Given the description of an element on the screen output the (x, y) to click on. 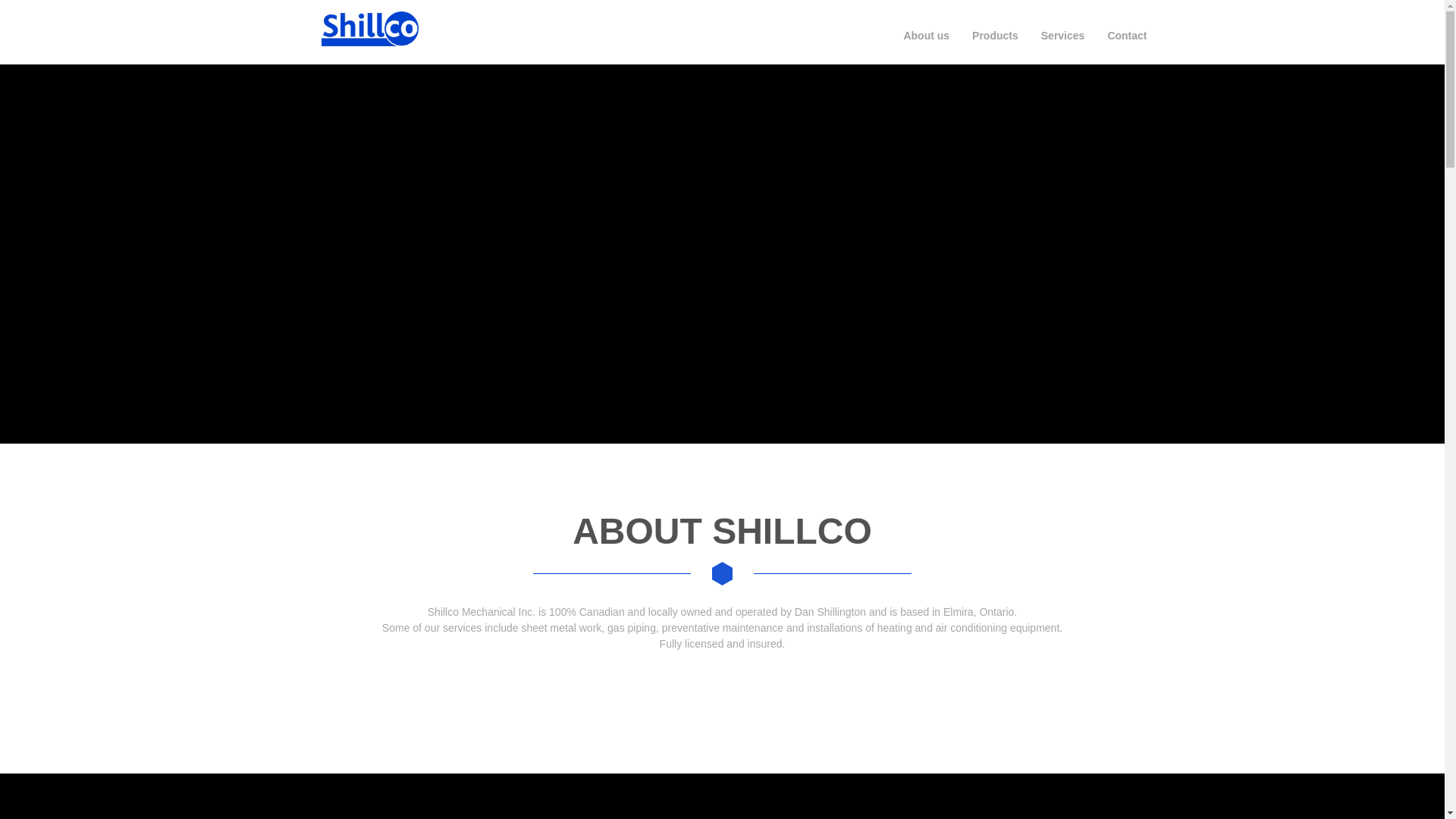
Contact (1126, 35)
Products (994, 35)
About us (925, 35)
Haxa (375, 28)
Services (1062, 35)
About us (925, 35)
Products (994, 35)
Services (1062, 35)
Contact (1126, 35)
